Given the description of an element on the screen output the (x, y) to click on. 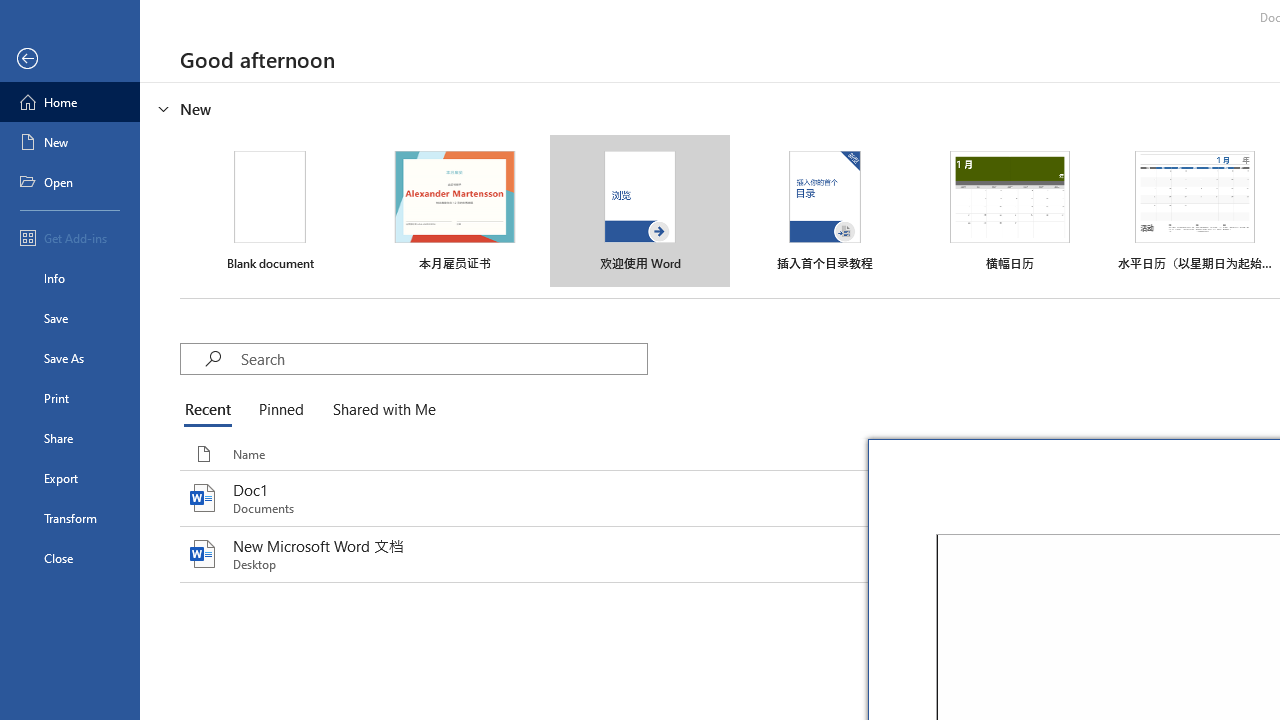
Hide or show region (164, 108)
Blank document (269, 211)
Transform (69, 517)
Print (69, 398)
Pinned (280, 410)
Get Add-ins (69, 237)
